Given the description of an element on the screen output the (x, y) to click on. 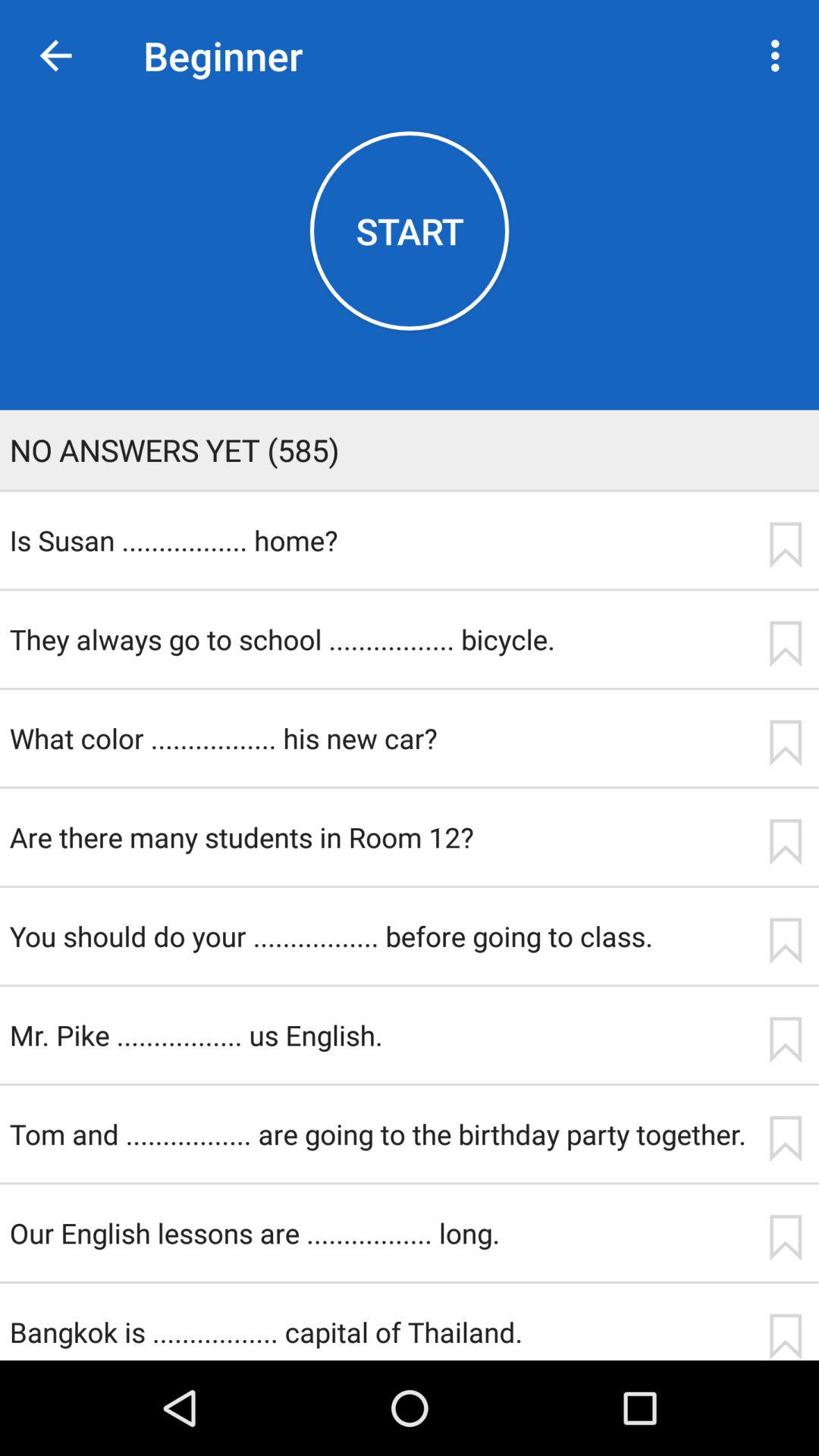
launch app to the right of the you should do icon (784, 940)
